Given the description of an element on the screen output the (x, y) to click on. 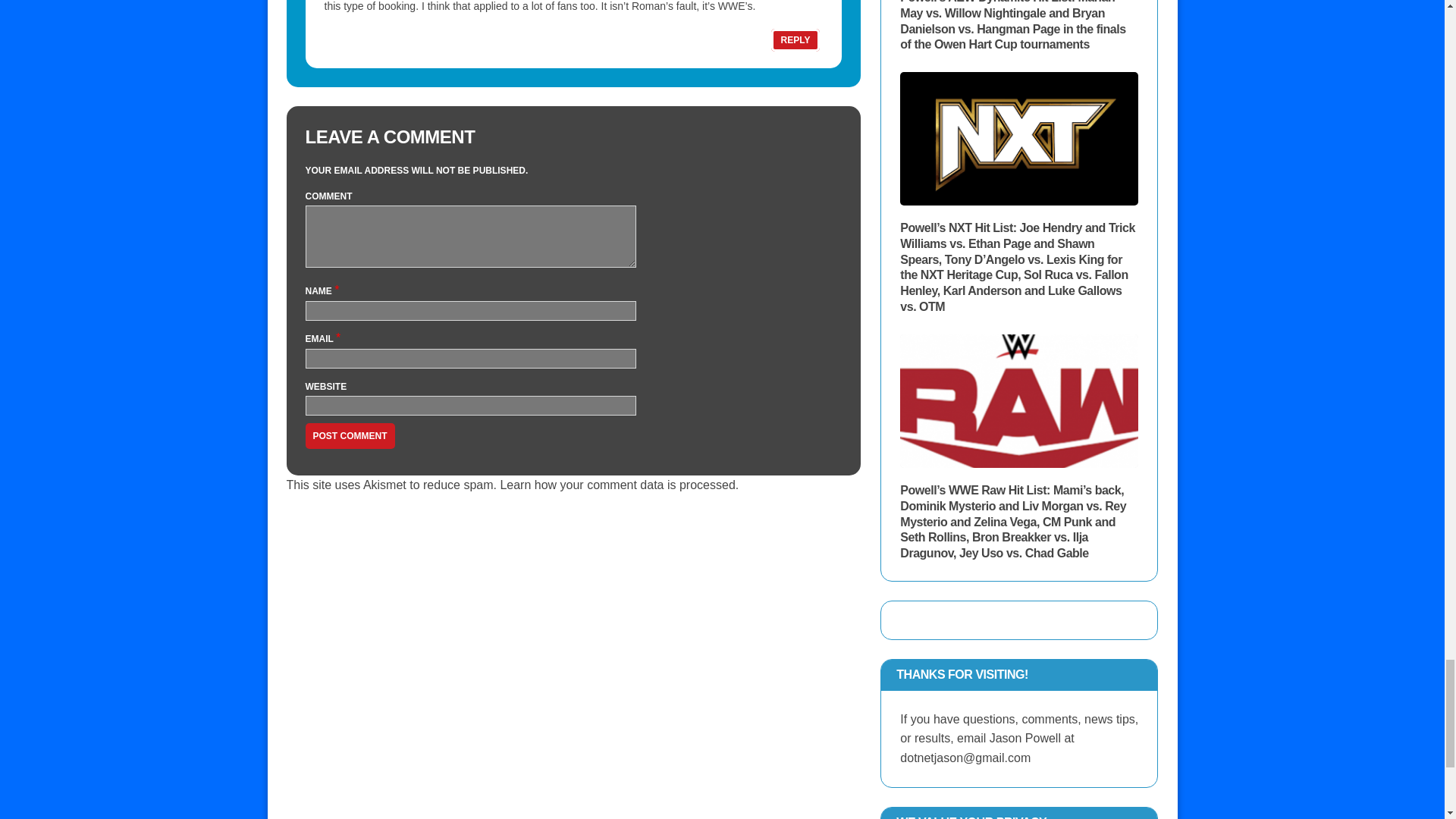
Post Comment (349, 435)
